Given the description of an element on the screen output the (x, y) to click on. 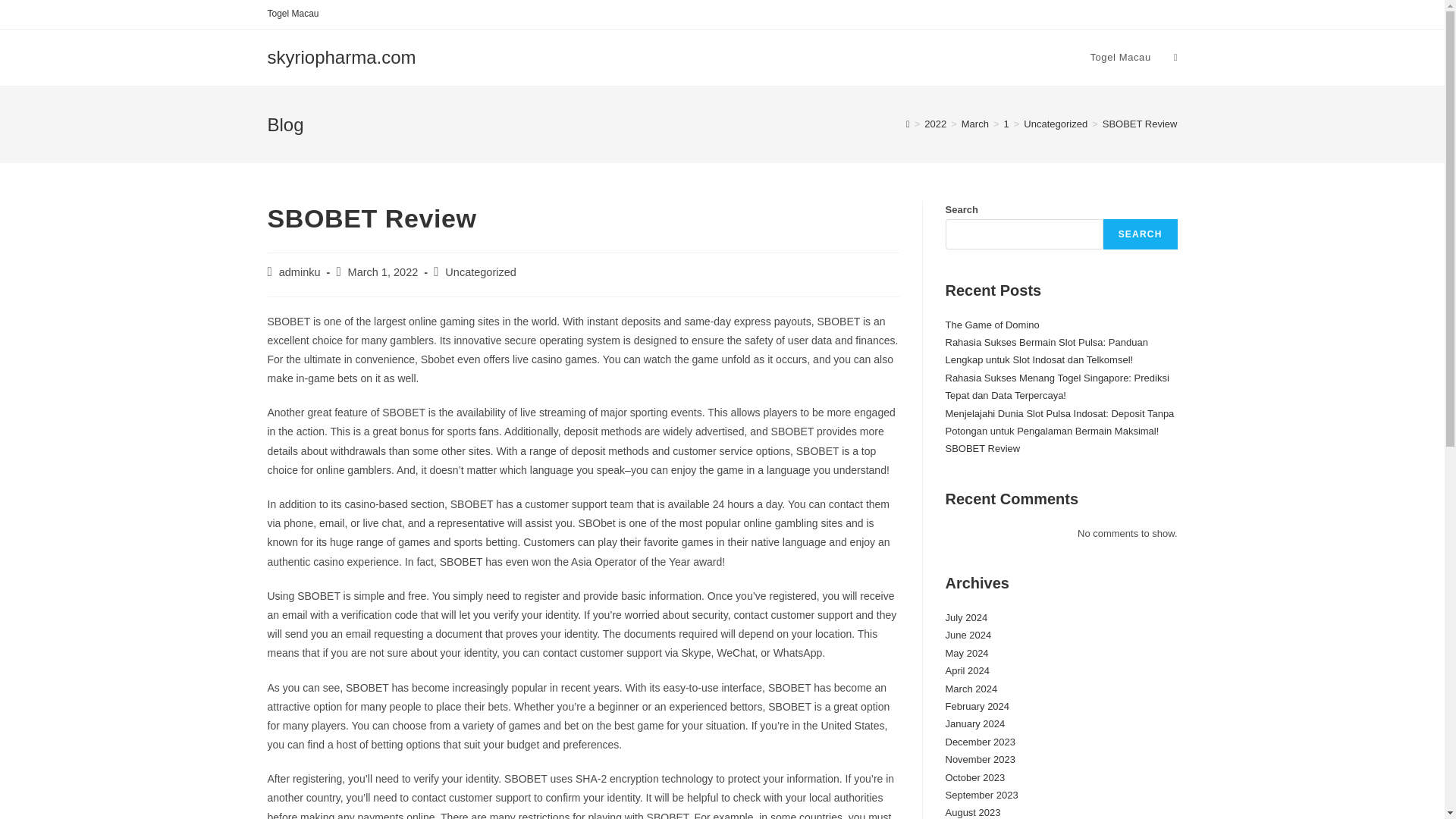
adminku (299, 272)
Uncategorized (480, 272)
2022 (935, 123)
May 2024 (966, 653)
October 2023 (974, 777)
March 2024 (970, 688)
July 2024 (965, 617)
SBOBET Review (982, 448)
SEARCH (1140, 234)
June 2024 (967, 634)
March (974, 123)
Toggle website search (1175, 57)
December 2023 (979, 741)
August 2023 (972, 812)
